Given the description of an element on the screen output the (x, y) to click on. 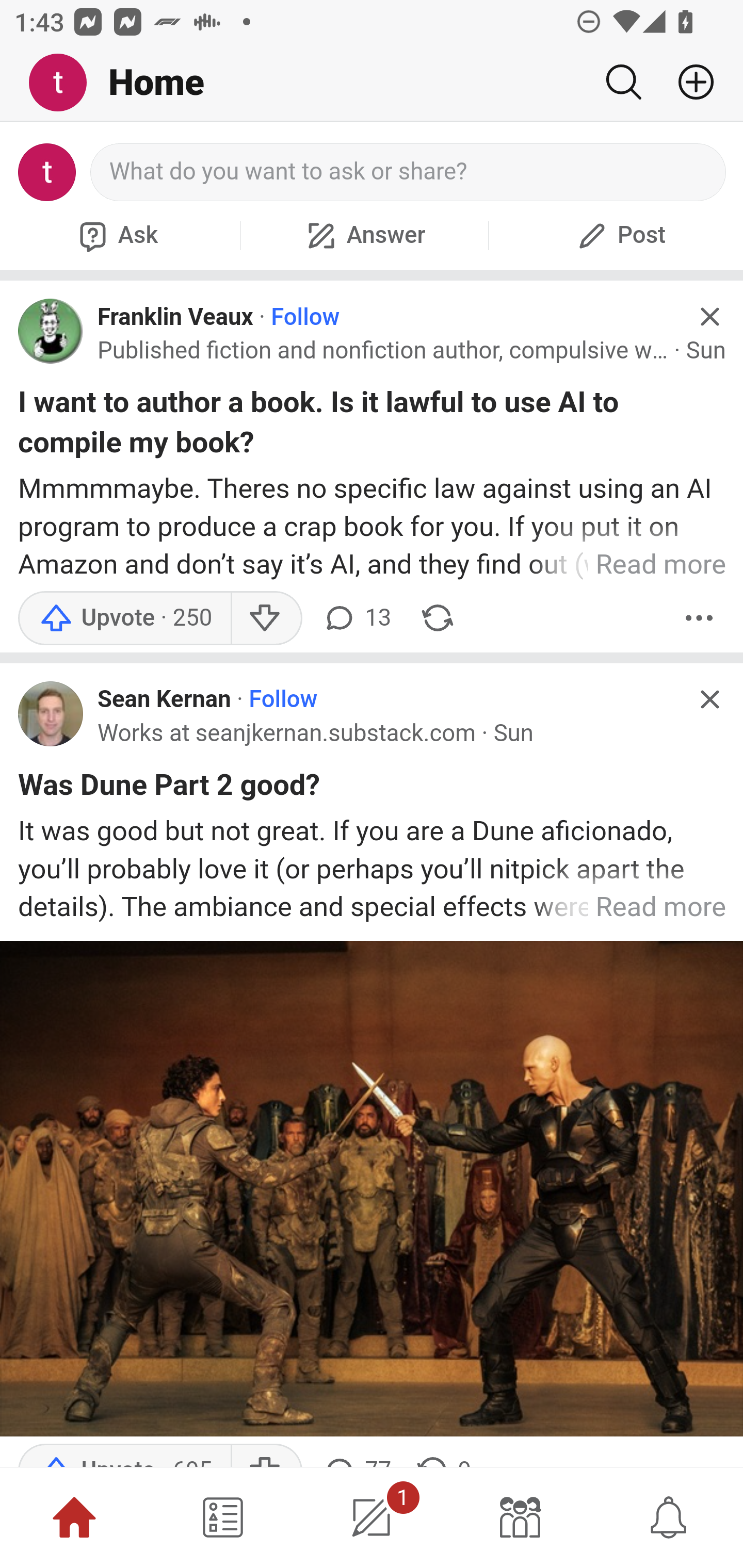
Me (64, 83)
Search (623, 82)
Add (688, 82)
What do you want to ask or share? (408, 172)
Ask (116, 234)
Answer (364, 234)
Post (618, 234)
Hide (709, 316)
Profile photo for Franklin Veaux (50, 330)
Franklin Veaux (175, 316)
Follow (306, 316)
Upvote (124, 617)
Downvote (266, 617)
13 comments (356, 617)
Share (437, 617)
More (699, 617)
Hide (709, 699)
Profile photo for Sean Kernan (50, 712)
Sean Kernan (164, 700)
Follow (283, 700)
1 (371, 1517)
